Given the description of an element on the screen output the (x, y) to click on. 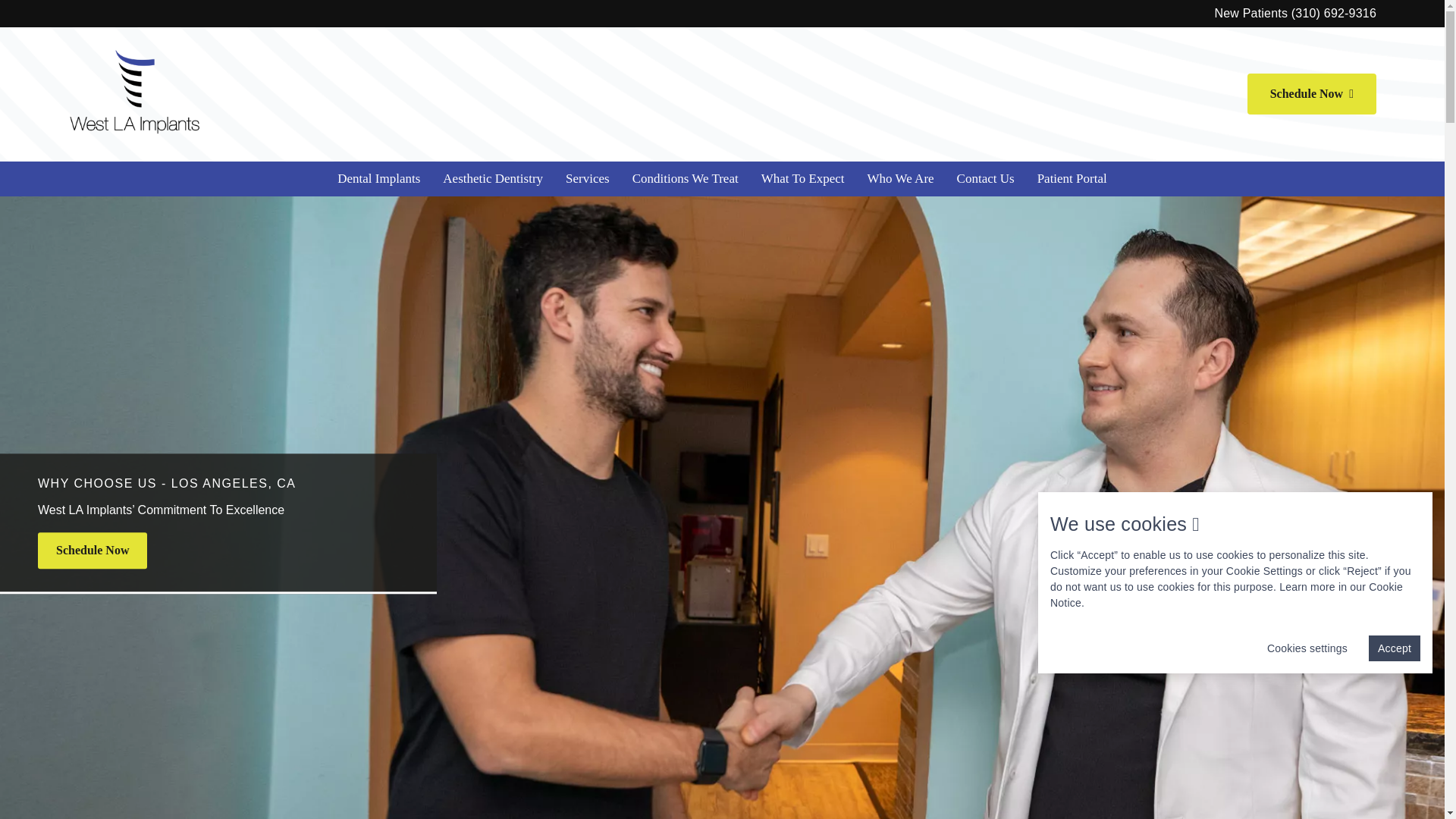
Dental Implants (378, 178)
Aesthetic Dentistry (492, 178)
Conditions We Treat (685, 178)
Schedule Now (1311, 93)
Who We Are (900, 178)
What To Expect (802, 178)
Services (587, 178)
